Given the description of an element on the screen output the (x, y) to click on. 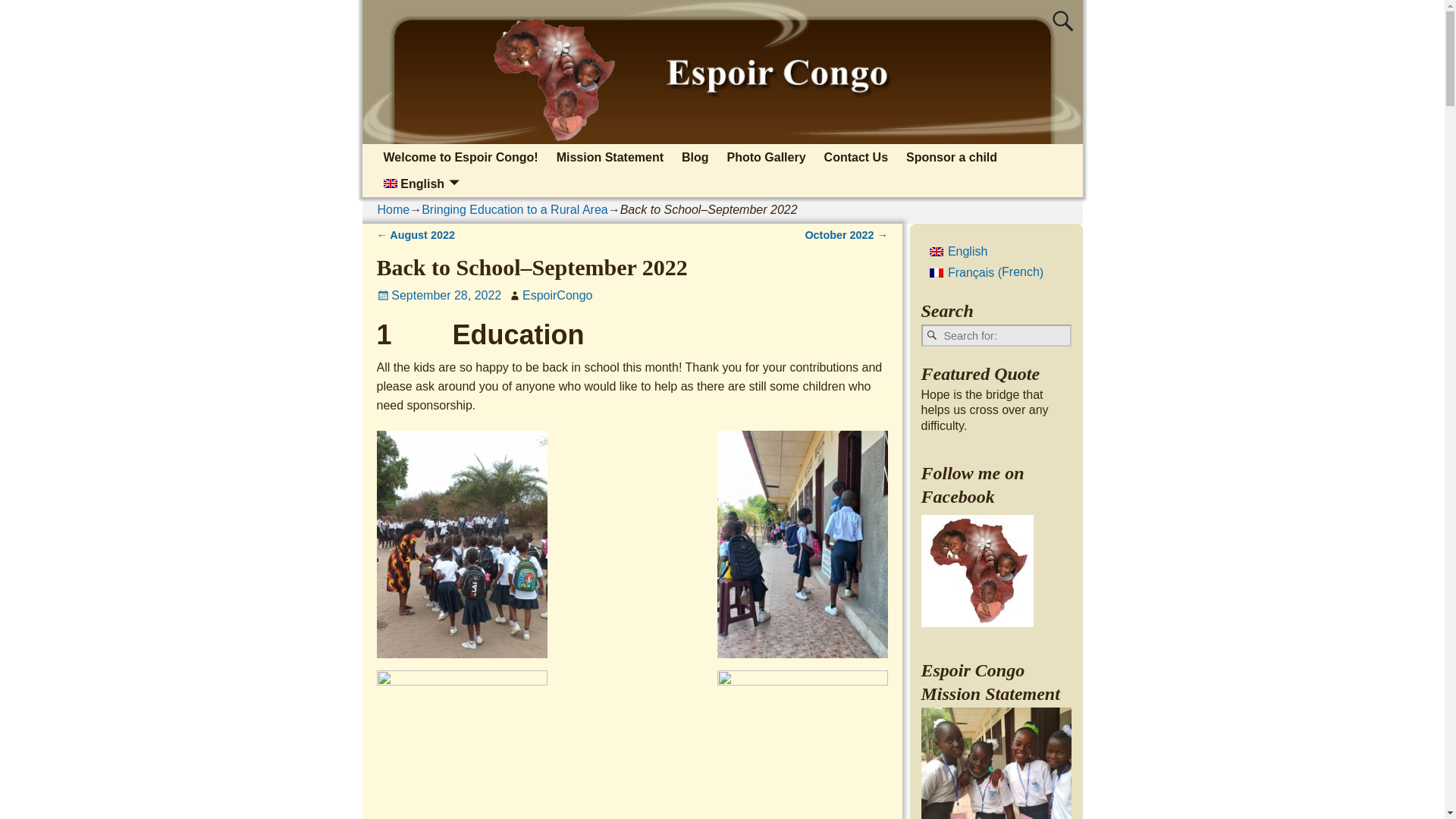
Photo Gallery (766, 157)
View all posts by EspoirCongo (557, 295)
Sponsor a child (951, 157)
English (421, 183)
EspoirCongo (557, 295)
Blog (694, 157)
Contact Us (855, 157)
Home (393, 209)
Mission Statement (609, 157)
Bringing Education to a Rural Area (514, 209)
